Given the description of an element on the screen output the (x, y) to click on. 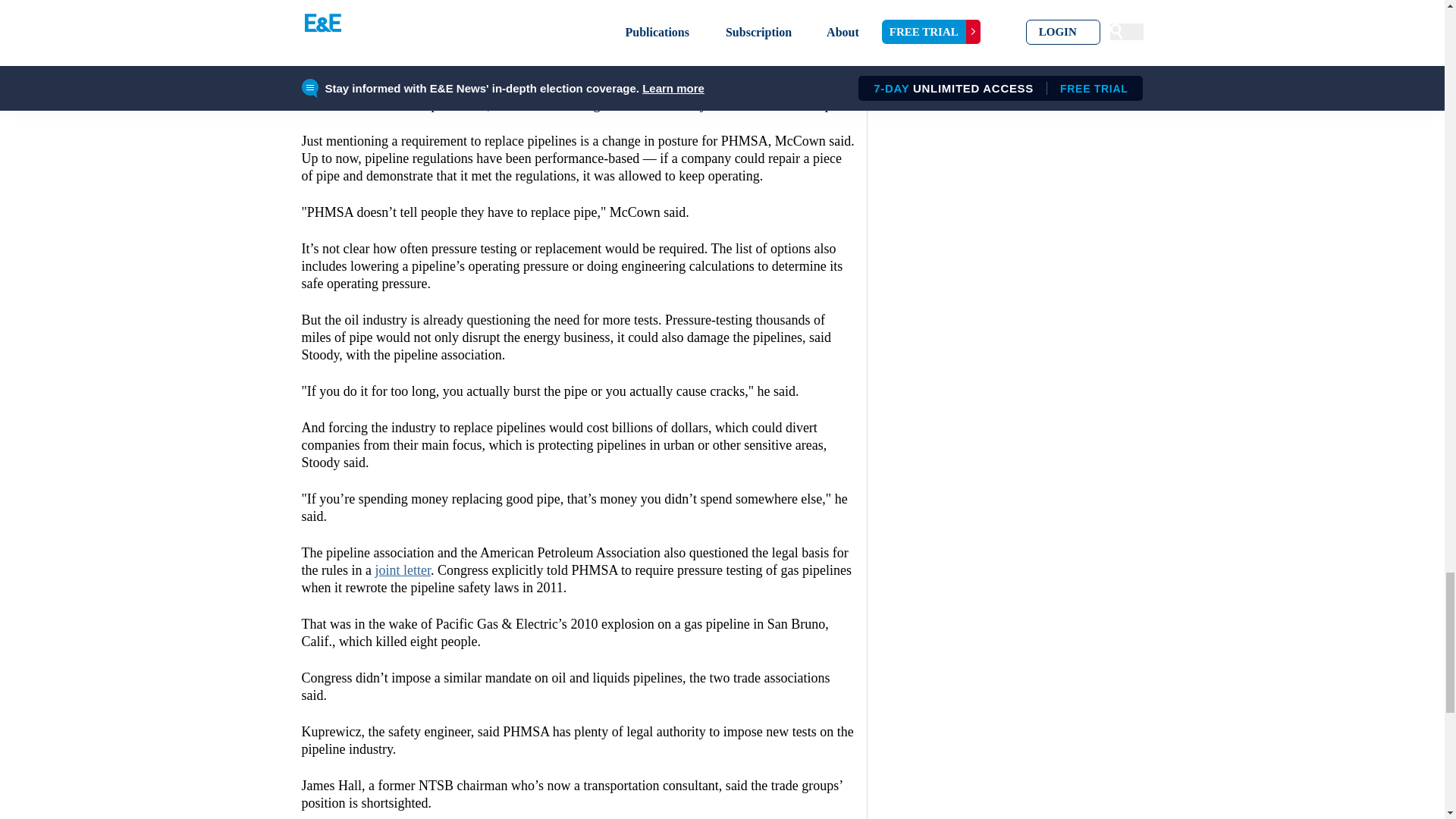
joint letter (402, 570)
